Given the description of an element on the screen output the (x, y) to click on. 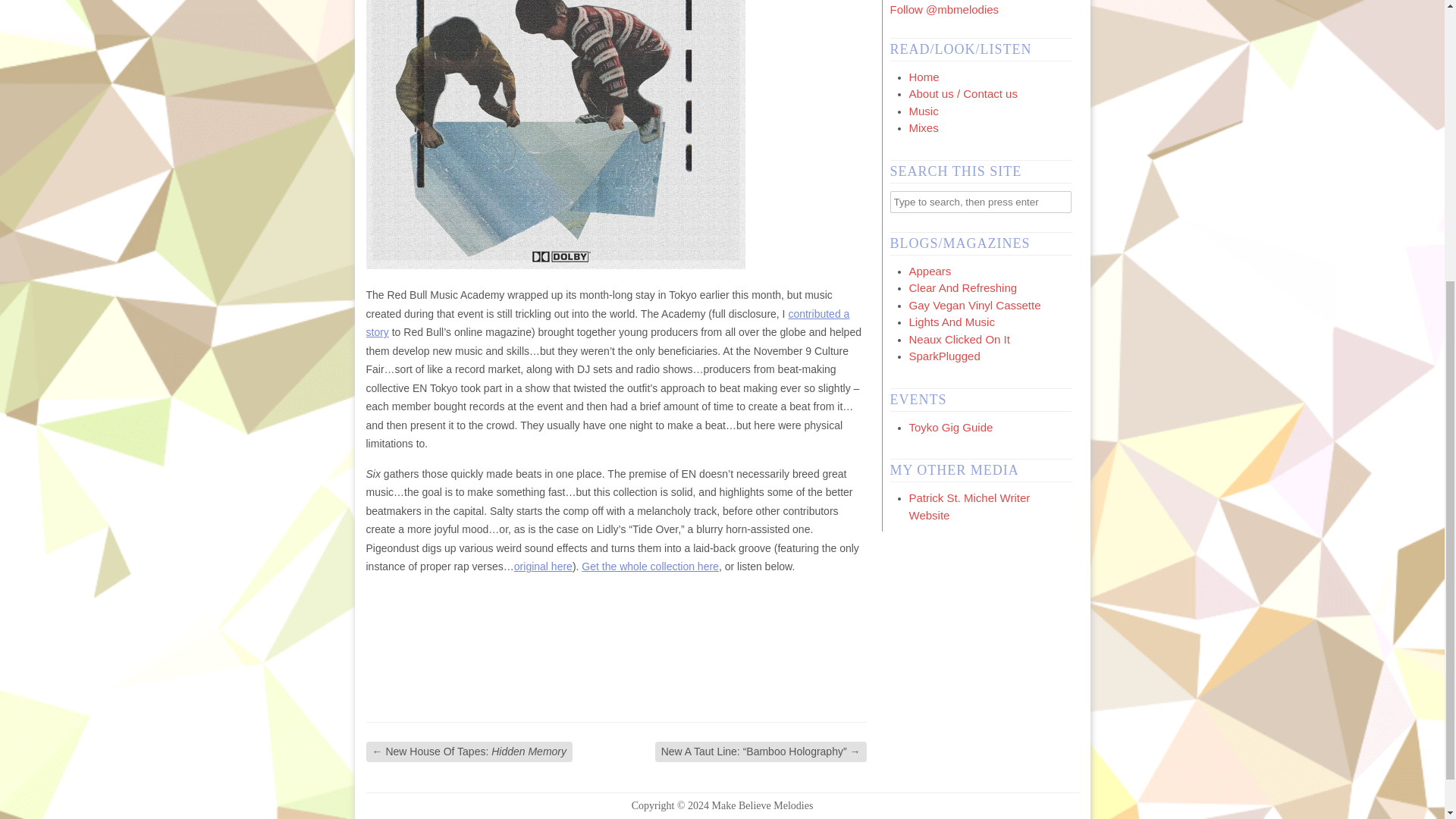
Appears (929, 270)
Lights And Music (951, 321)
Patrick St. Michel Writer Website (968, 506)
Type to search, then press enter (980, 201)
original here (542, 566)
Home (923, 76)
Gay Vegan Vinyl Cassette (974, 304)
contributed a story (606, 323)
Get the whole collection here (649, 566)
Toyko Gig Guide (950, 427)
